Given the description of an element on the screen output the (x, y) to click on. 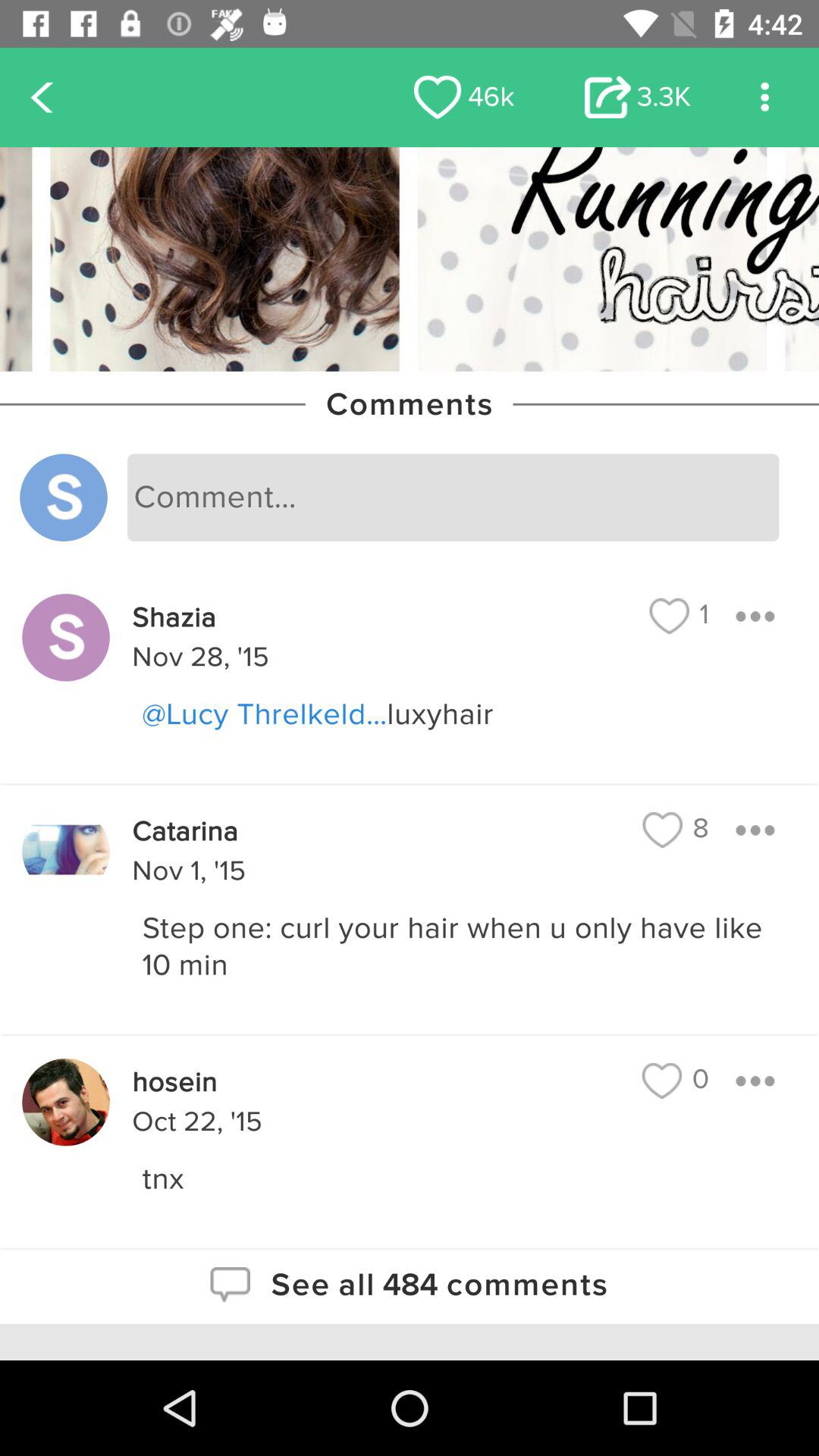
tap @lucy threlkeld...luxyhair item (465, 714)
